Given the description of an element on the screen output the (x, y) to click on. 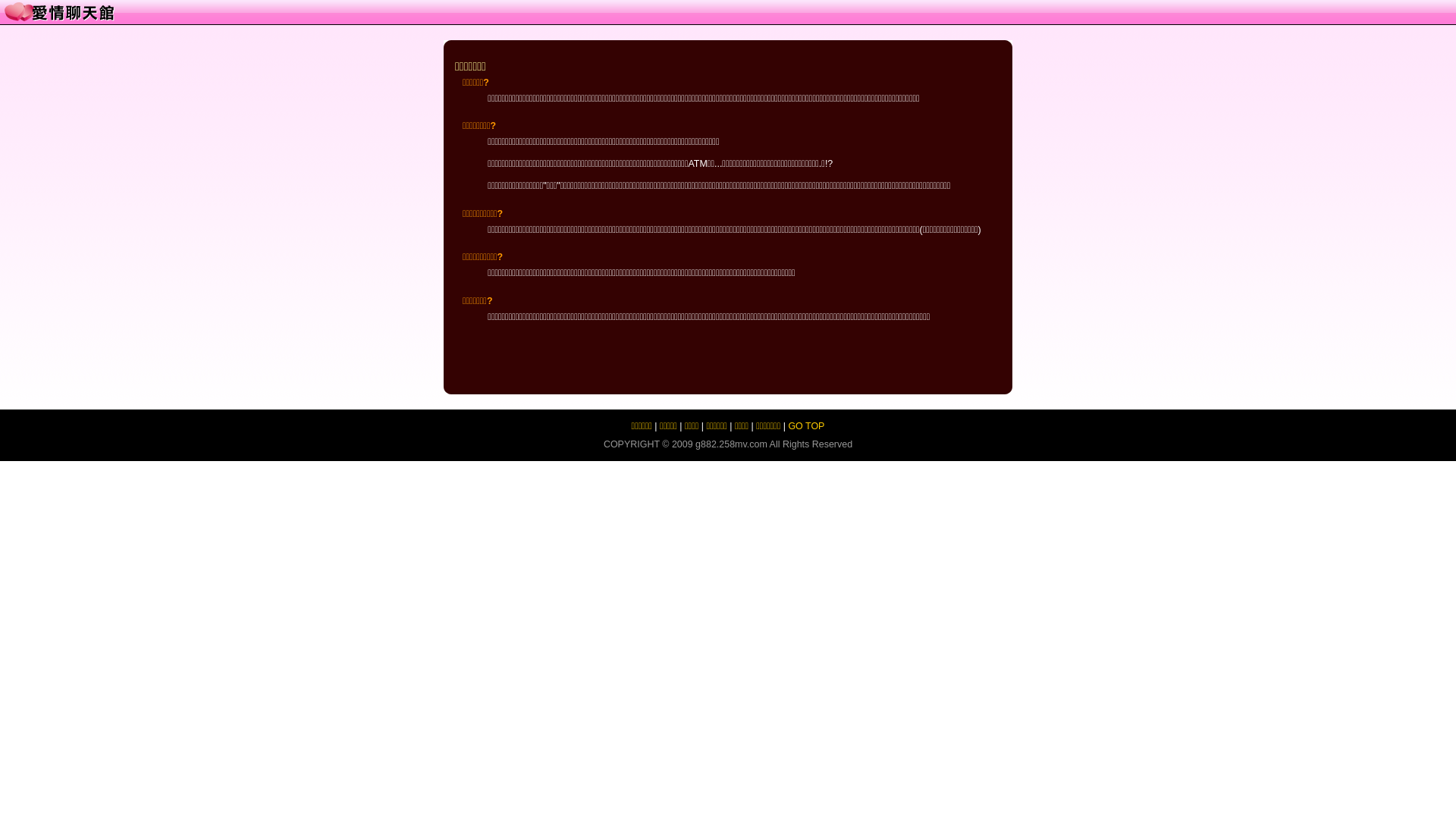
g882.258mv.com Element type: text (731, 444)
GO TOP Element type: text (805, 425)
